Given the description of an element on the screen output the (x, y) to click on. 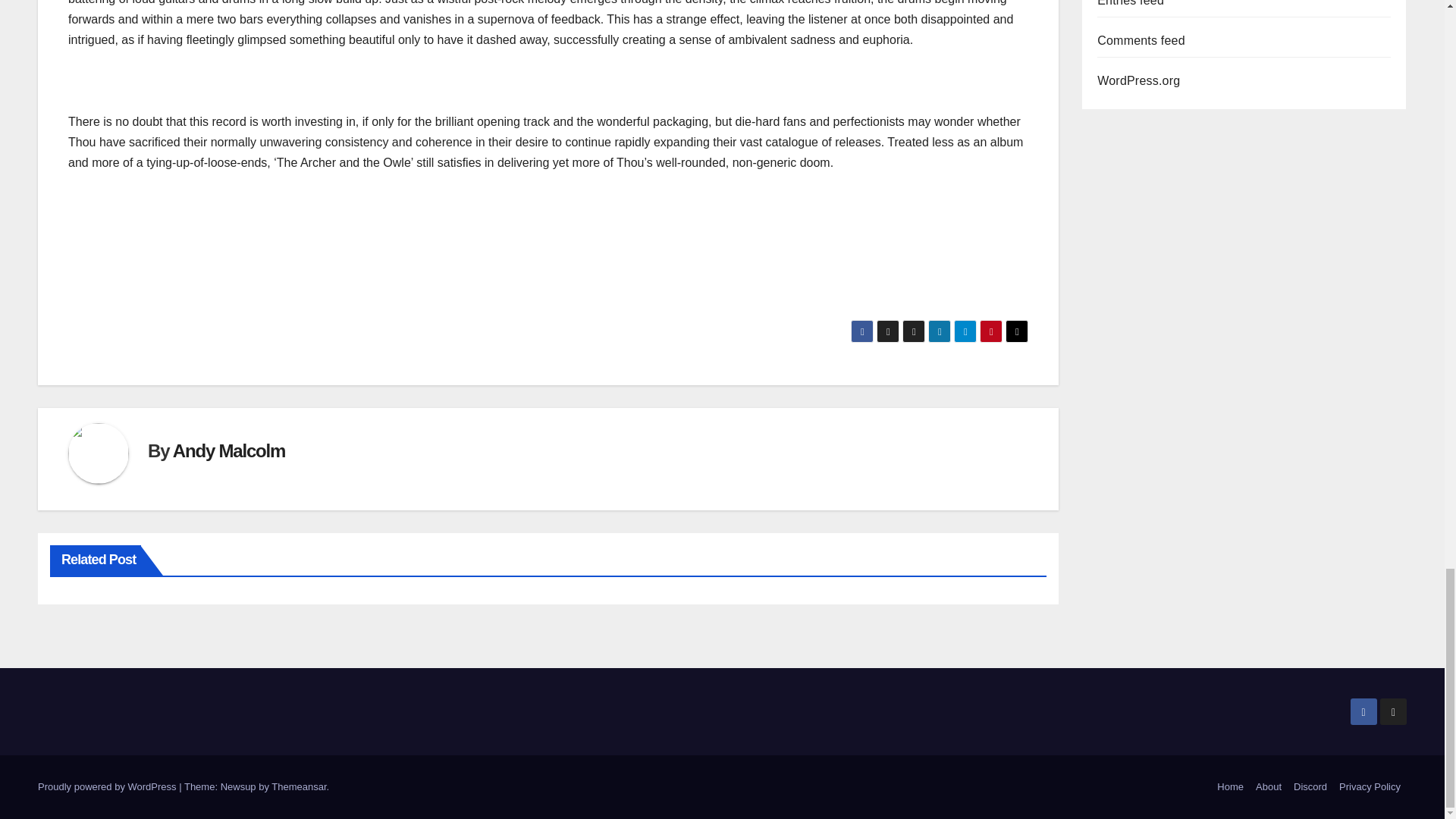
Andy Malcolm (229, 450)
Home (1230, 786)
